Given the description of an element on the screen output the (x, y) to click on. 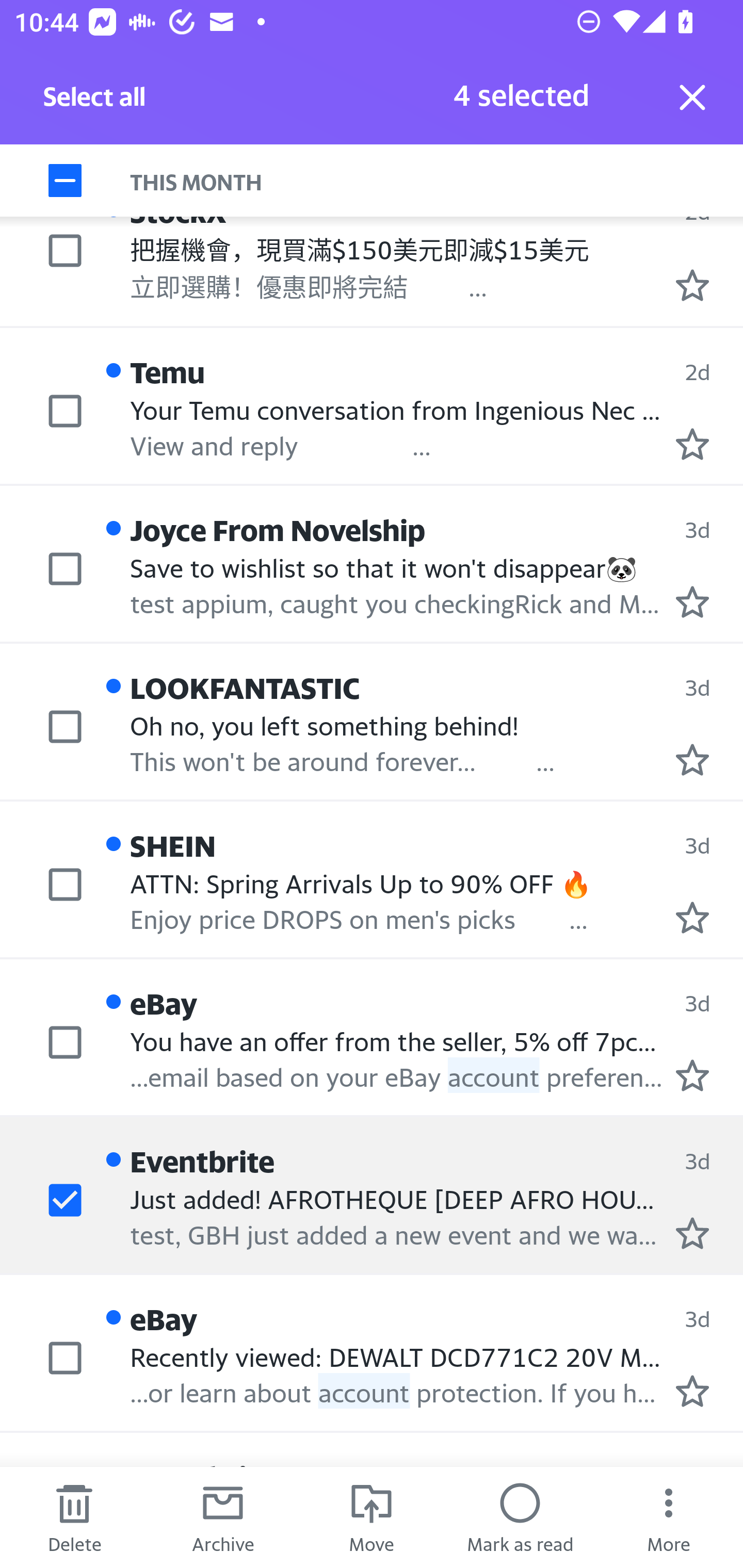
Exit selection mode (692, 97)
Select all (94, 101)
Mark as starred. (692, 284)
Mark as starred. (692, 444)
Mark as starred. (692, 601)
Mark as starred. (692, 759)
Mark as starred. (692, 918)
Mark as starred. (692, 1074)
Mark as starred. (692, 1233)
Mark as starred. (692, 1391)
Delete (74, 1517)
Archive (222, 1517)
Move (371, 1517)
Mark as read (519, 1517)
More (668, 1517)
